Given the description of an element on the screen output the (x, y) to click on. 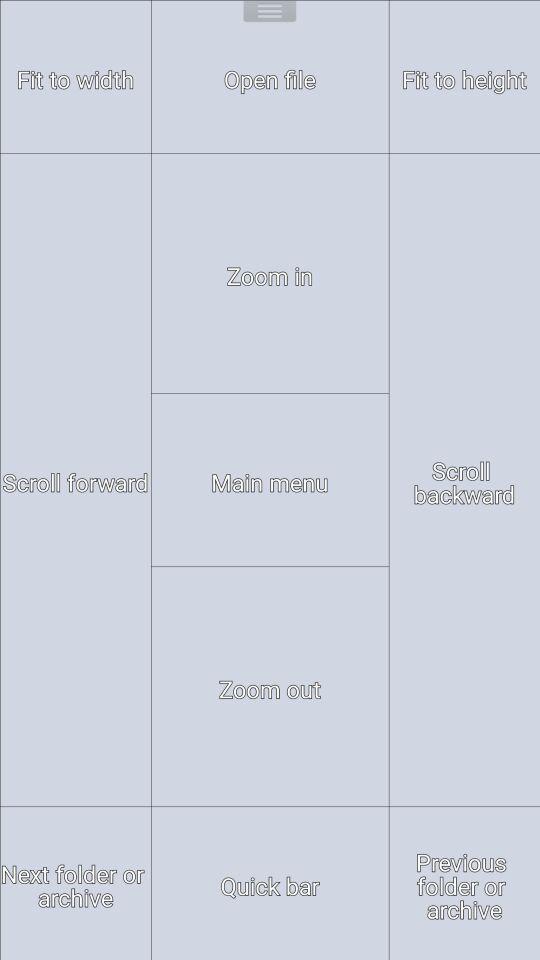
shows the menu option (269, 14)
